Given the description of an element on the screen output the (x, y) to click on. 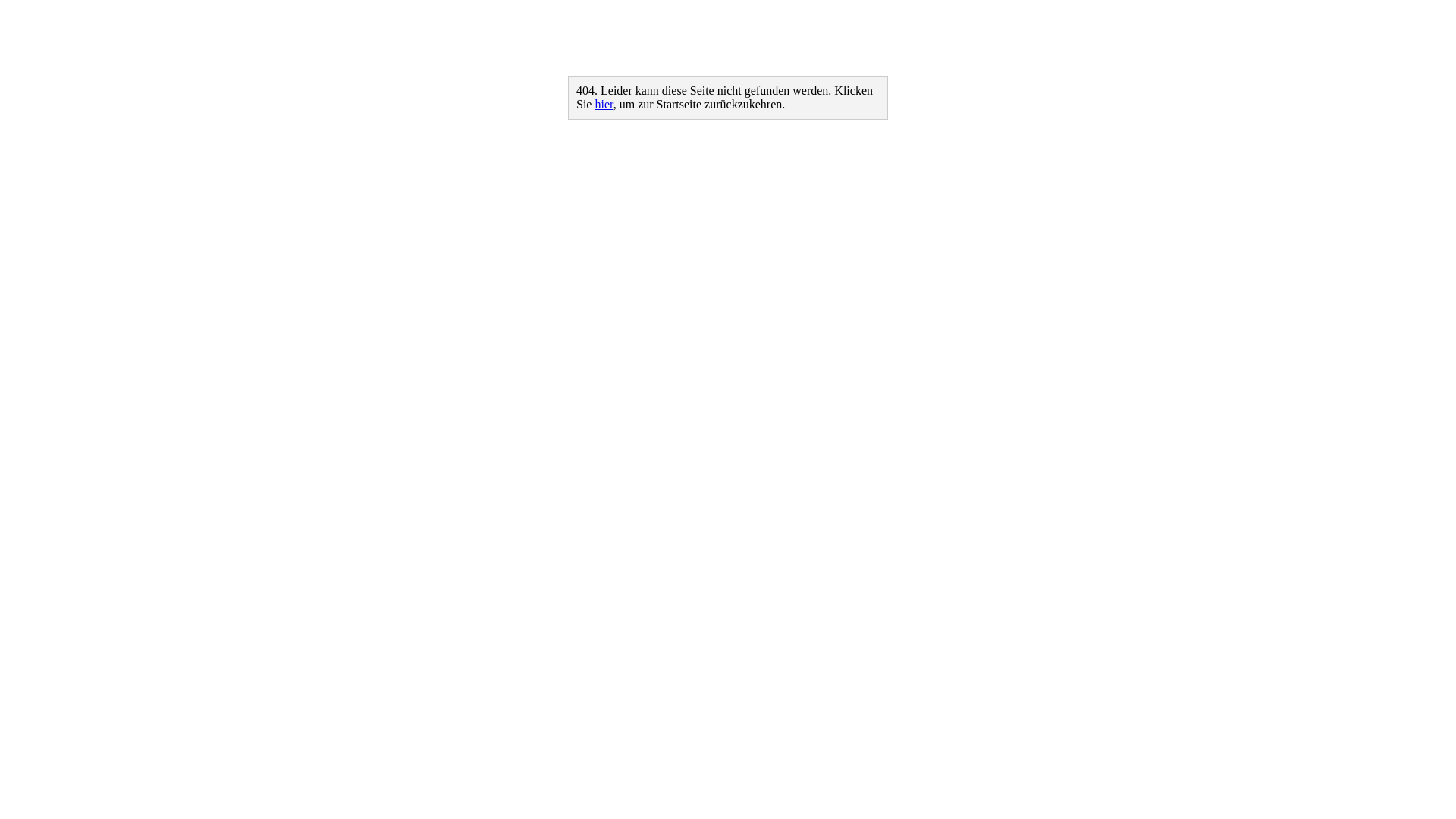
hier Element type: text (603, 103)
